Given the description of an element on the screen output the (x, y) to click on. 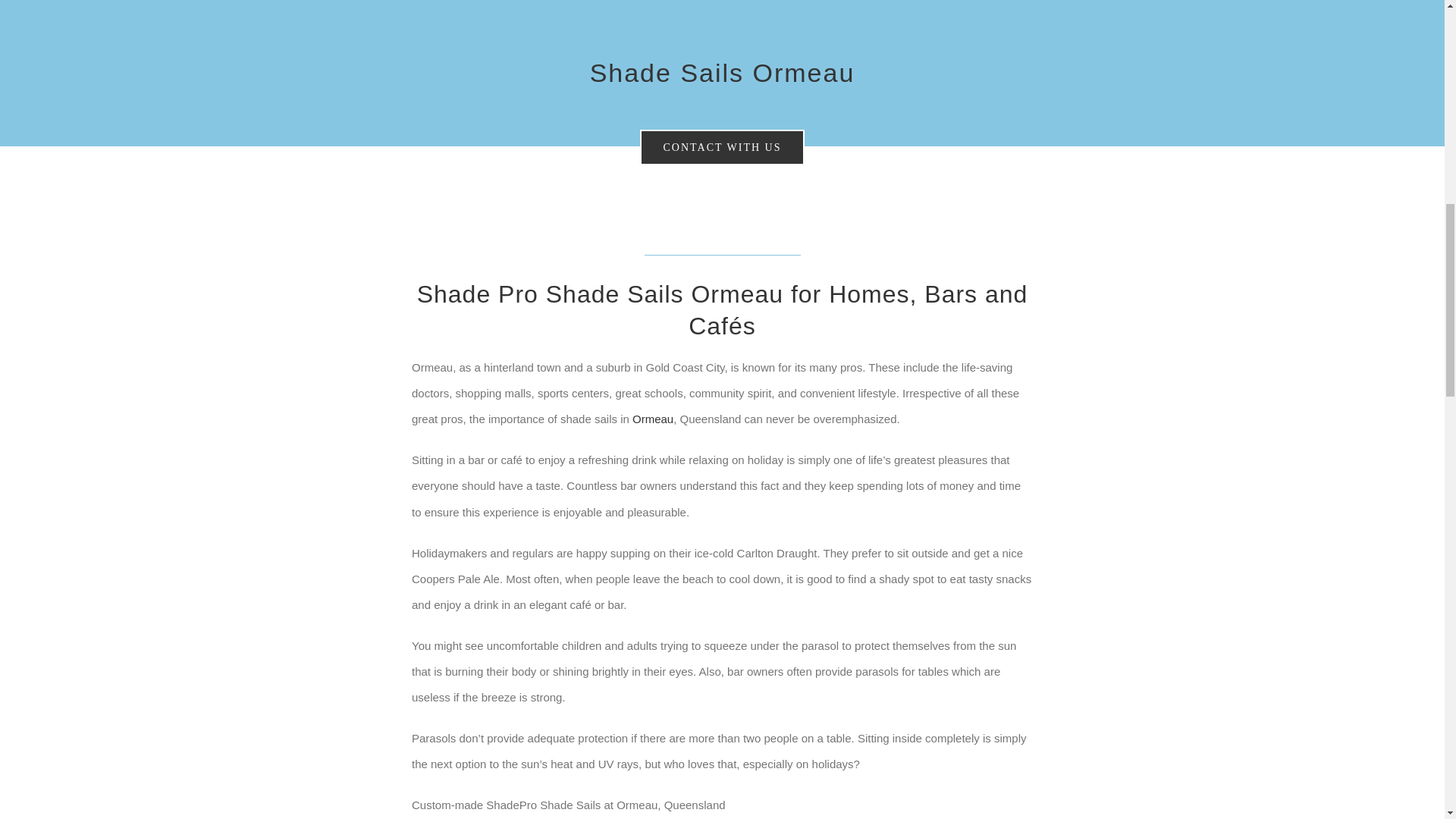
CONTACT WITH US (722, 147)
Ormeau (651, 418)
